Given the description of an element on the screen output the (x, y) to click on. 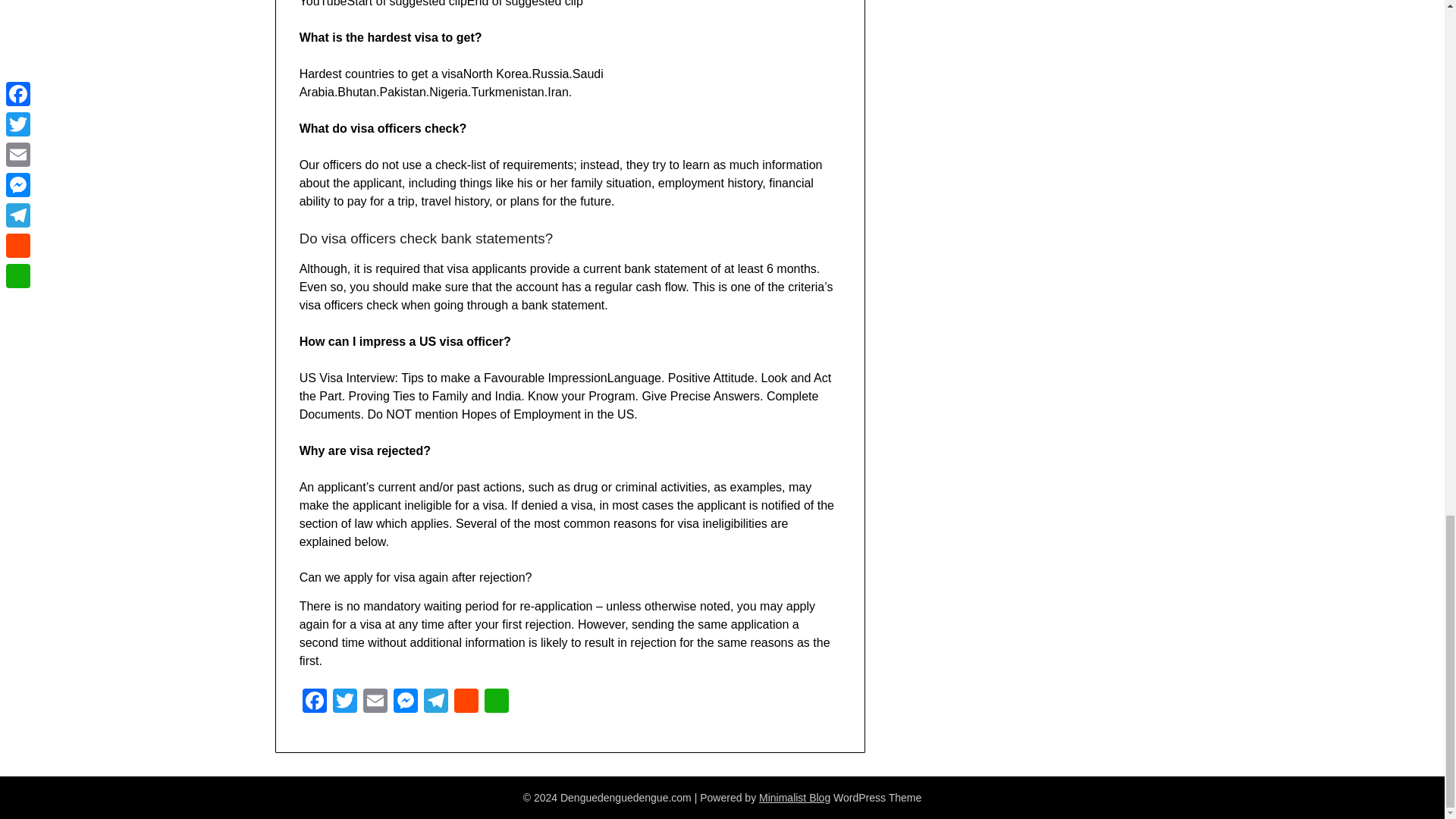
Email (374, 702)
Twitter (344, 702)
Facebook (314, 702)
Messenger (405, 702)
Reddit (466, 702)
WhatsApp (496, 702)
Telegram (435, 702)
Email (374, 702)
Twitter (344, 702)
WhatsApp (496, 702)
